Given the description of an element on the screen output the (x, y) to click on. 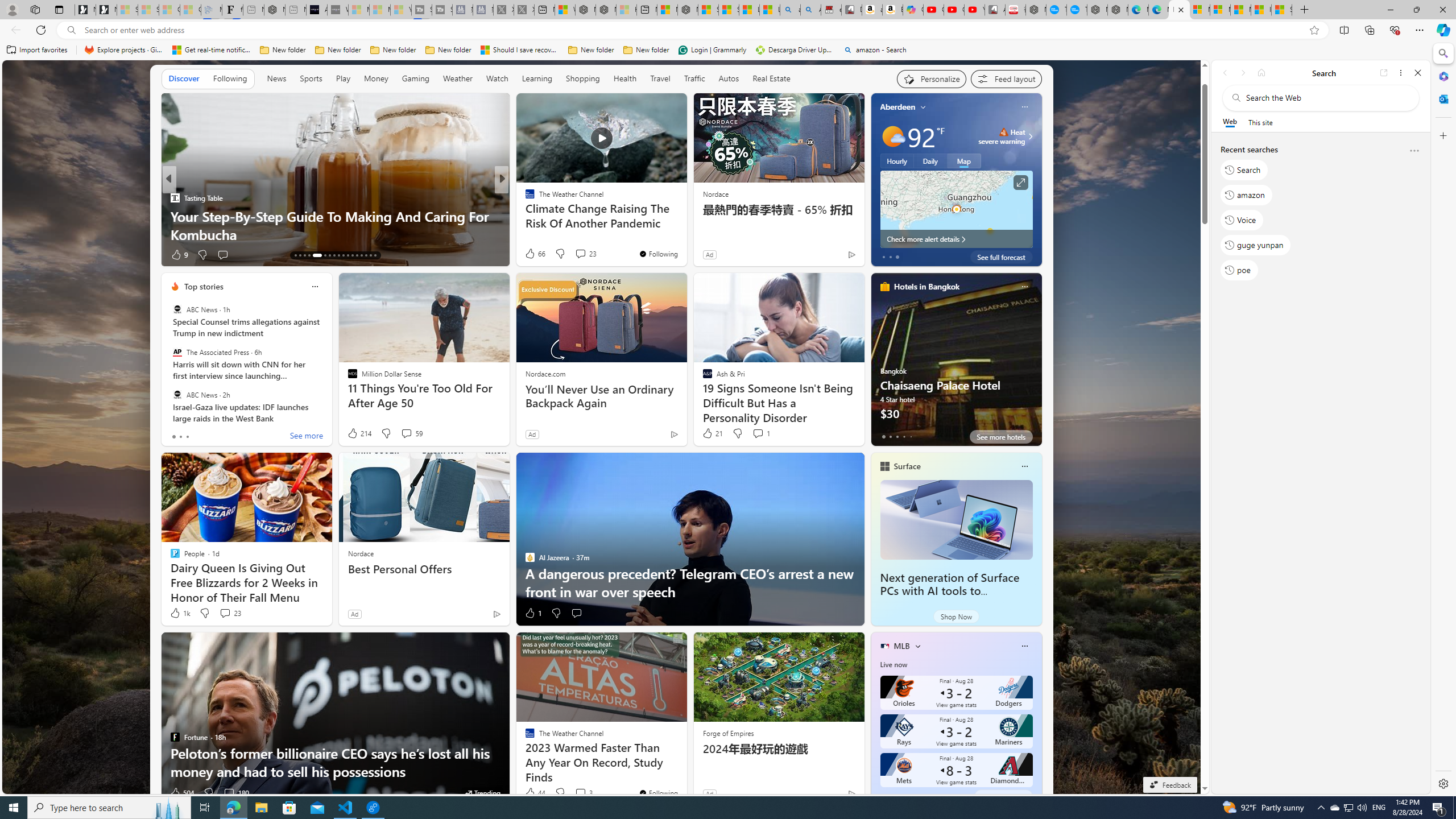
View comments 124 Comment (580, 254)
Heat - Severe Heat severe warning (1001, 136)
Nordace.com (545, 373)
View comments 59 Comment (411, 433)
AutomationID: tab-17 (314, 255)
Stacker (524, 197)
